Given the description of an element on the screen output the (x, y) to click on. 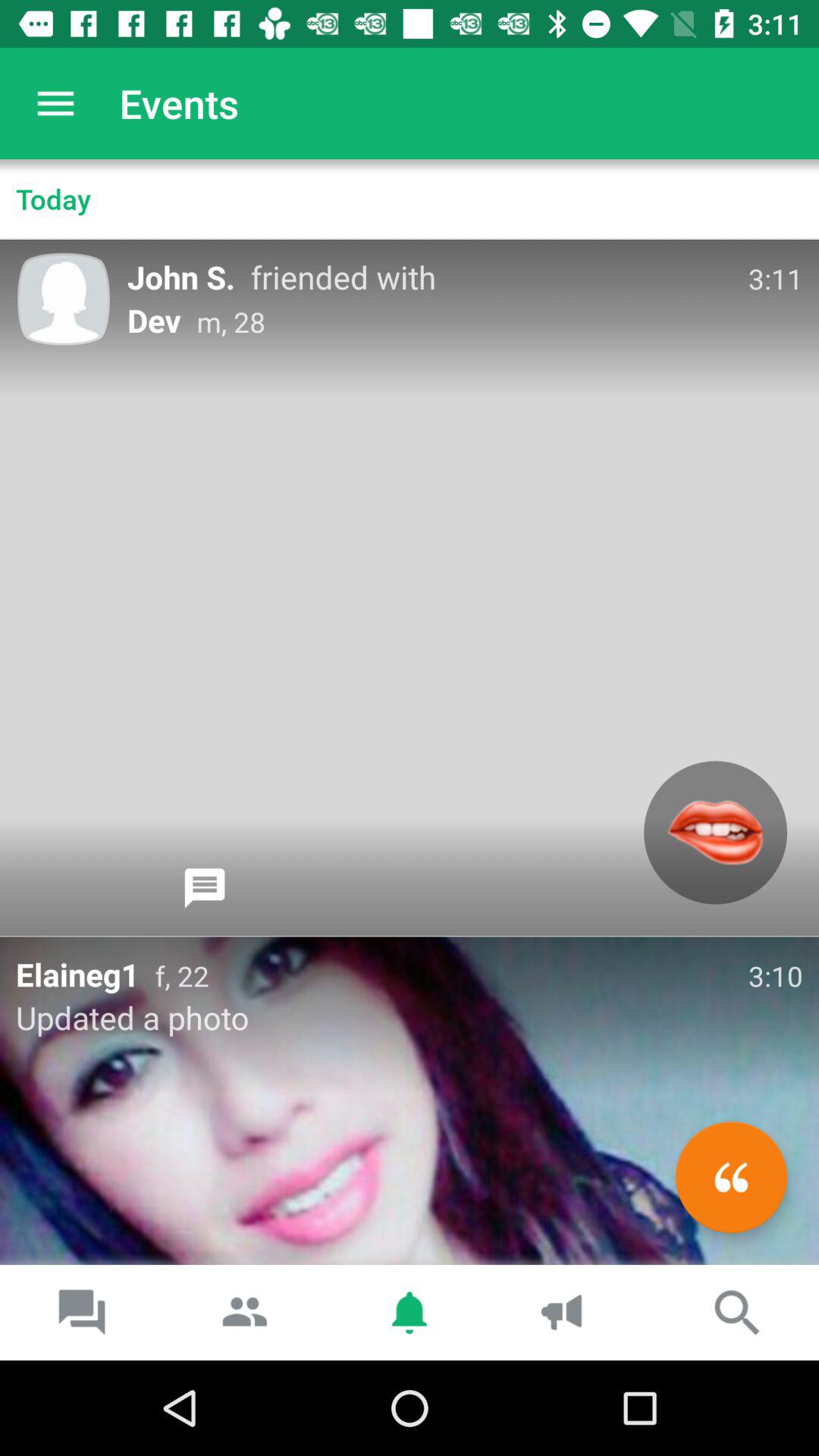
write to a friend (731, 1177)
